Given the description of an element on the screen output the (x, y) to click on. 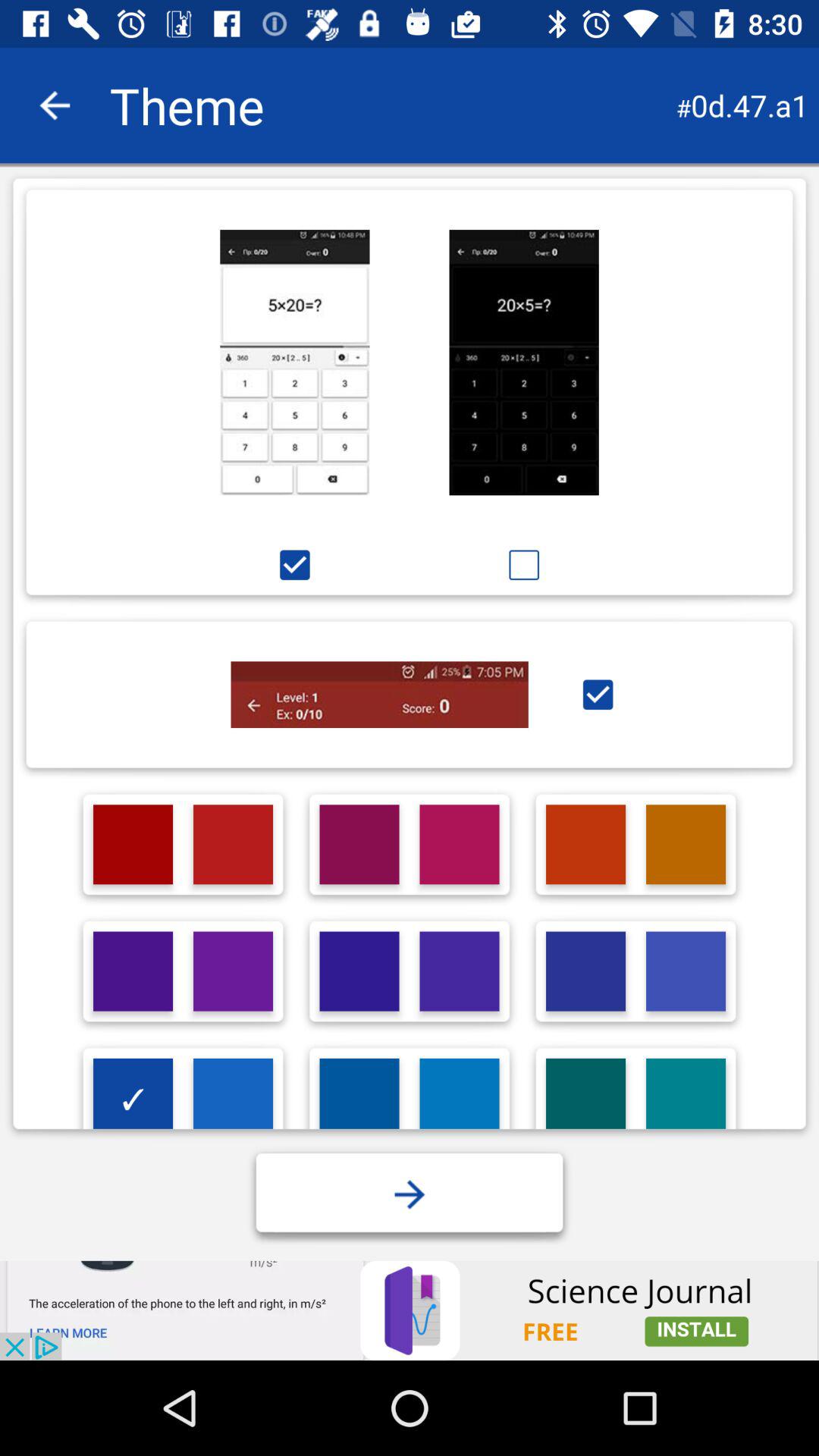
to select particular shade of color for theme (132, 971)
